Given the description of an element on the screen output the (x, y) to click on. 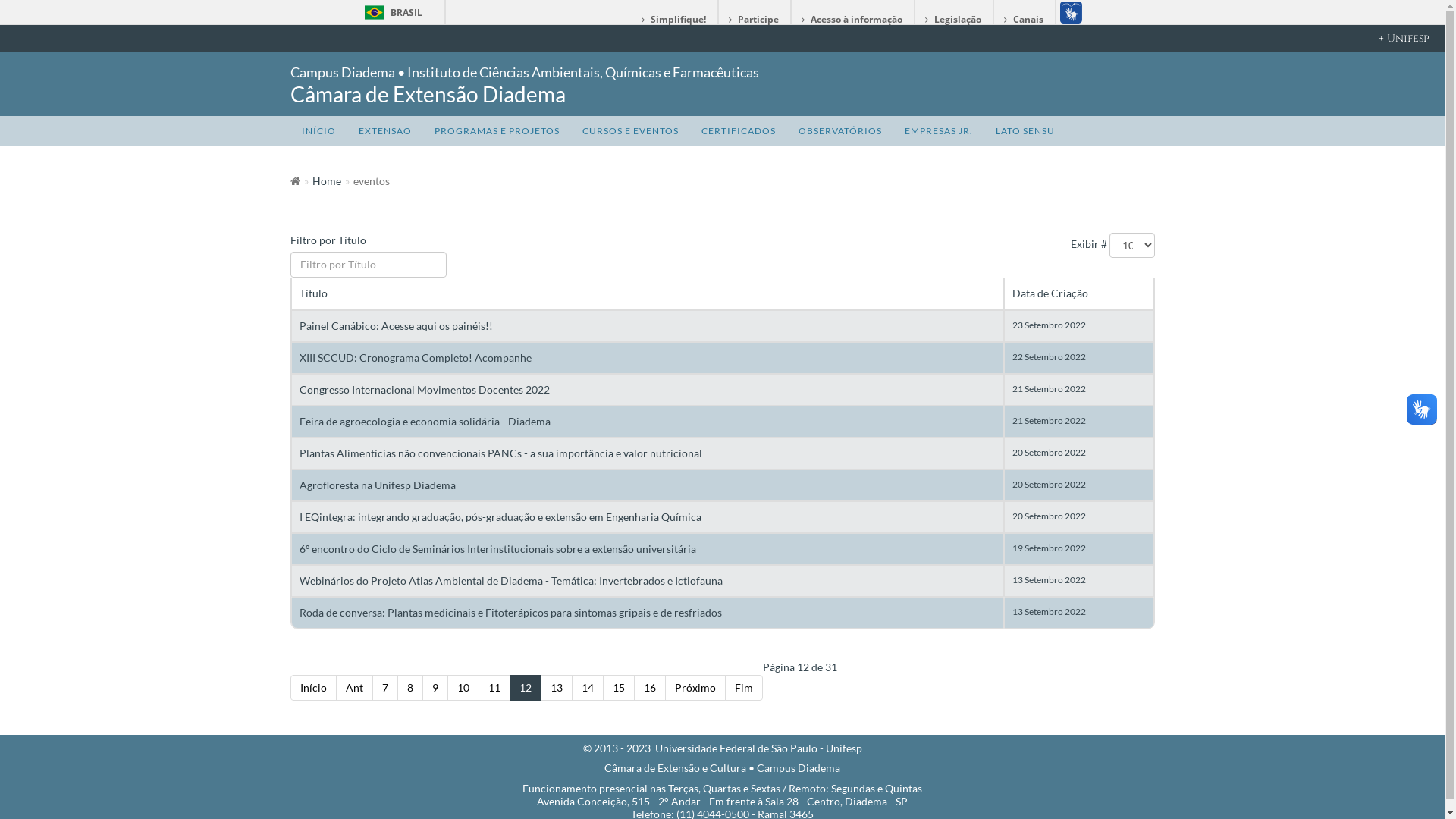
Congresso Internacional Movimentos Docentes 2022 Element type: text (423, 388)
14 Element type: text (587, 687)
CURSOS E EVENTOS Element type: text (629, 131)
13 Element type: text (555, 687)
Home Element type: text (326, 180)
9 Element type: text (434, 687)
12 Element type: text (525, 687)
PROGRAMAS E PROJETOS Element type: text (497, 131)
BRASIL Element type: text (373, 12)
+ Unifesp Element type: text (722, 38)
8 Element type: text (410, 687)
LATO SENSU Element type: text (1025, 131)
10 Element type: text (463, 687)
16 Element type: text (649, 687)
Fim Element type: text (743, 687)
Agrofloresta na Unifesp Diadema Element type: text (376, 484)
Canais Element type: text (1023, 19)
Ant Element type: text (353, 687)
Participe Element type: text (754, 19)
CERTIFICADOS Element type: text (738, 131)
EMPRESAS JR. Element type: text (938, 131)
Simplifique! Element type: text (673, 19)
7 Element type: text (384, 687)
11 Element type: text (493, 687)
XIII SCCUD: Cronograma Completo! Acompanhe Element type: text (414, 357)
15 Element type: text (617, 687)
